Given the description of an element on the screen output the (x, y) to click on. 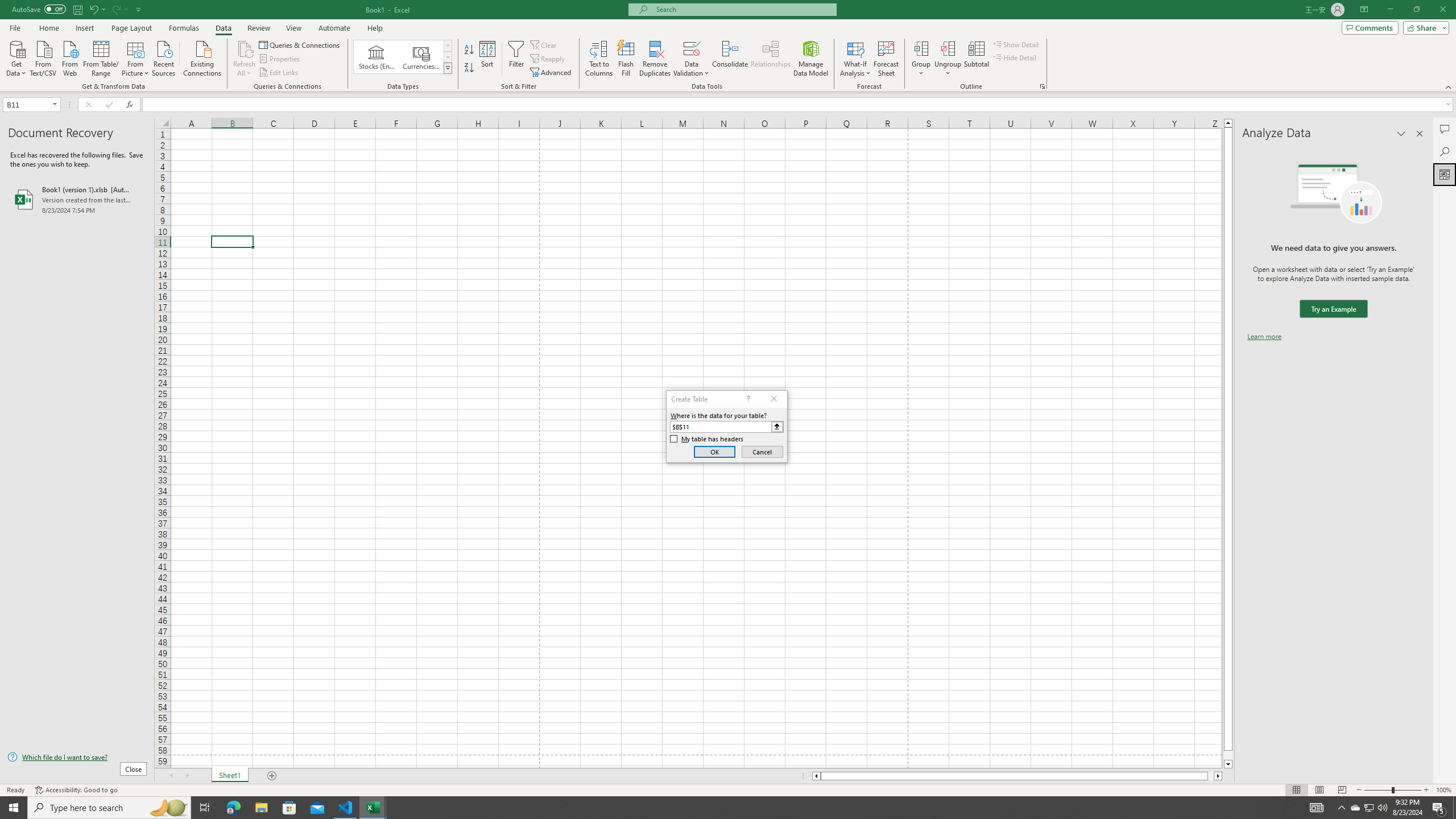
Properties (280, 58)
Sort... (487, 58)
Relationships (770, 58)
Recent Sources (163, 57)
Subtotal (976, 58)
Remove Duplicates (654, 58)
Consolidate... (729, 58)
Forecast Sheet (885, 58)
Get Data (16, 57)
